Given the description of an element on the screen output the (x, y) to click on. 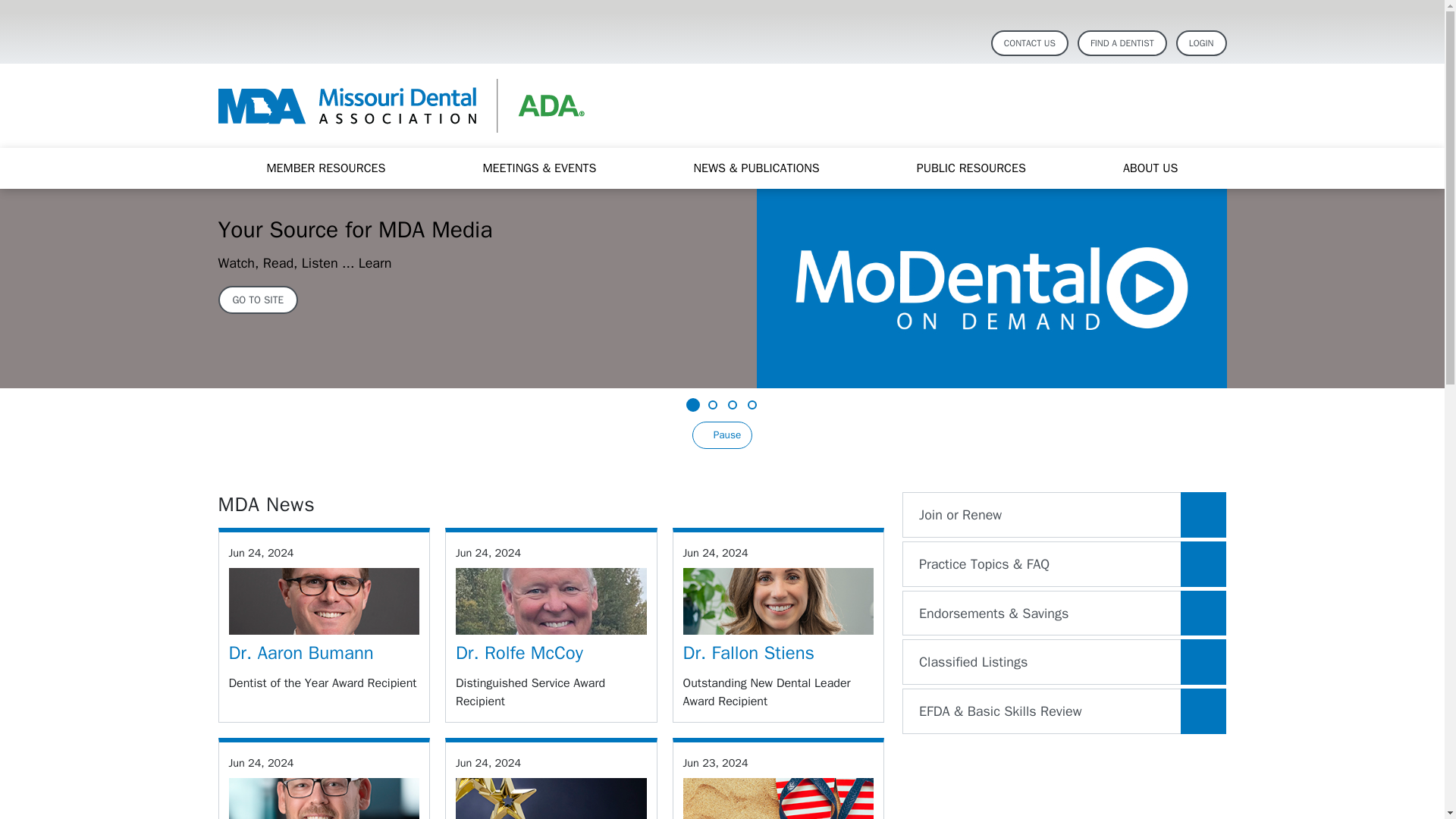
LOGIN (1201, 43)
MEMBER RESOURCES (324, 167)
FIND A DENTIST (1122, 43)
CONTACT US (1029, 43)
